Given the description of an element on the screen output the (x, y) to click on. 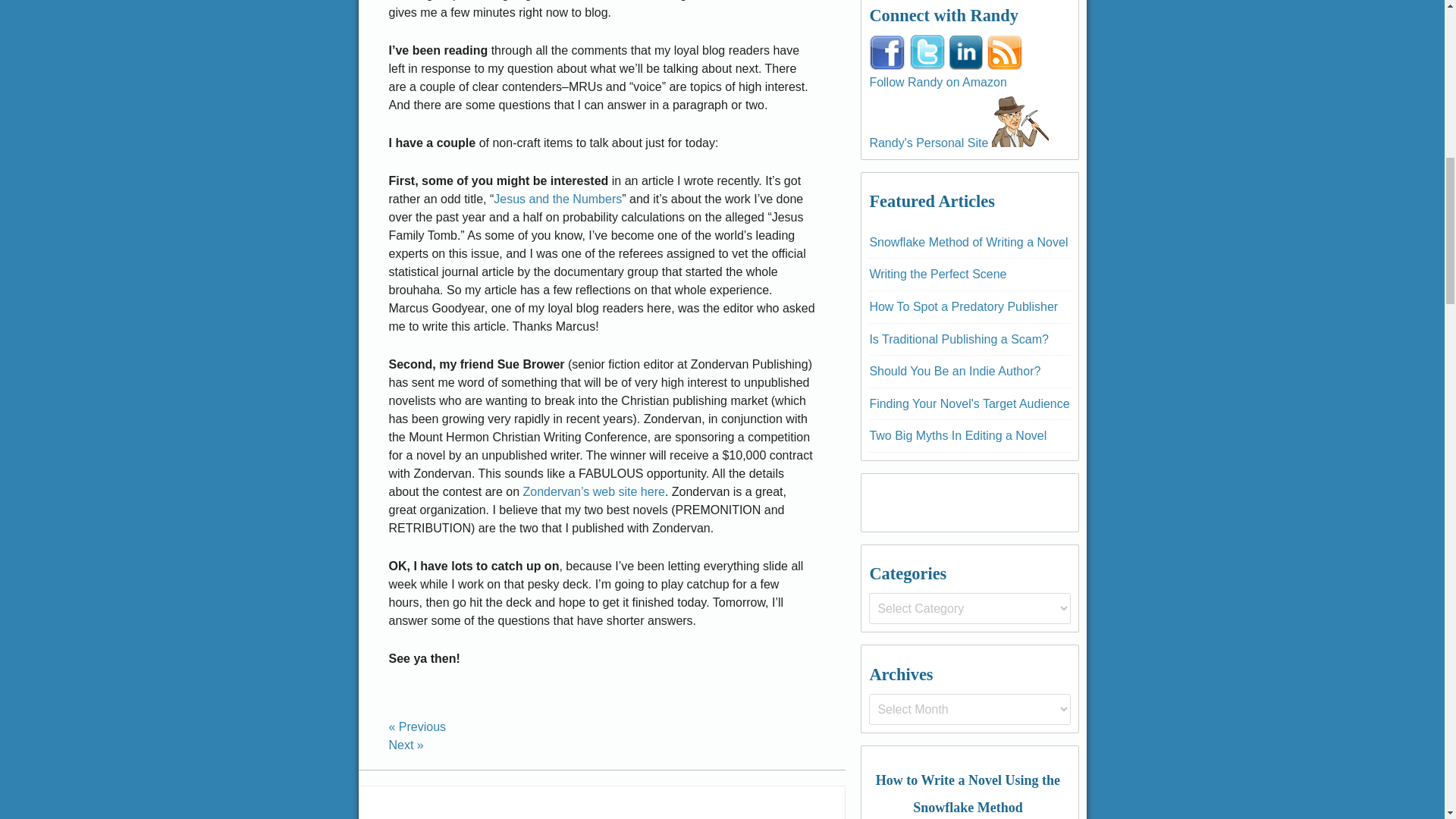
Follow on Twitter (926, 52)
Randy's Personal Site (1019, 118)
Like on Facebook (887, 52)
Subscribe by RSS (1005, 52)
Connect on LinkedIn (965, 52)
